Given the description of an element on the screen output the (x, y) to click on. 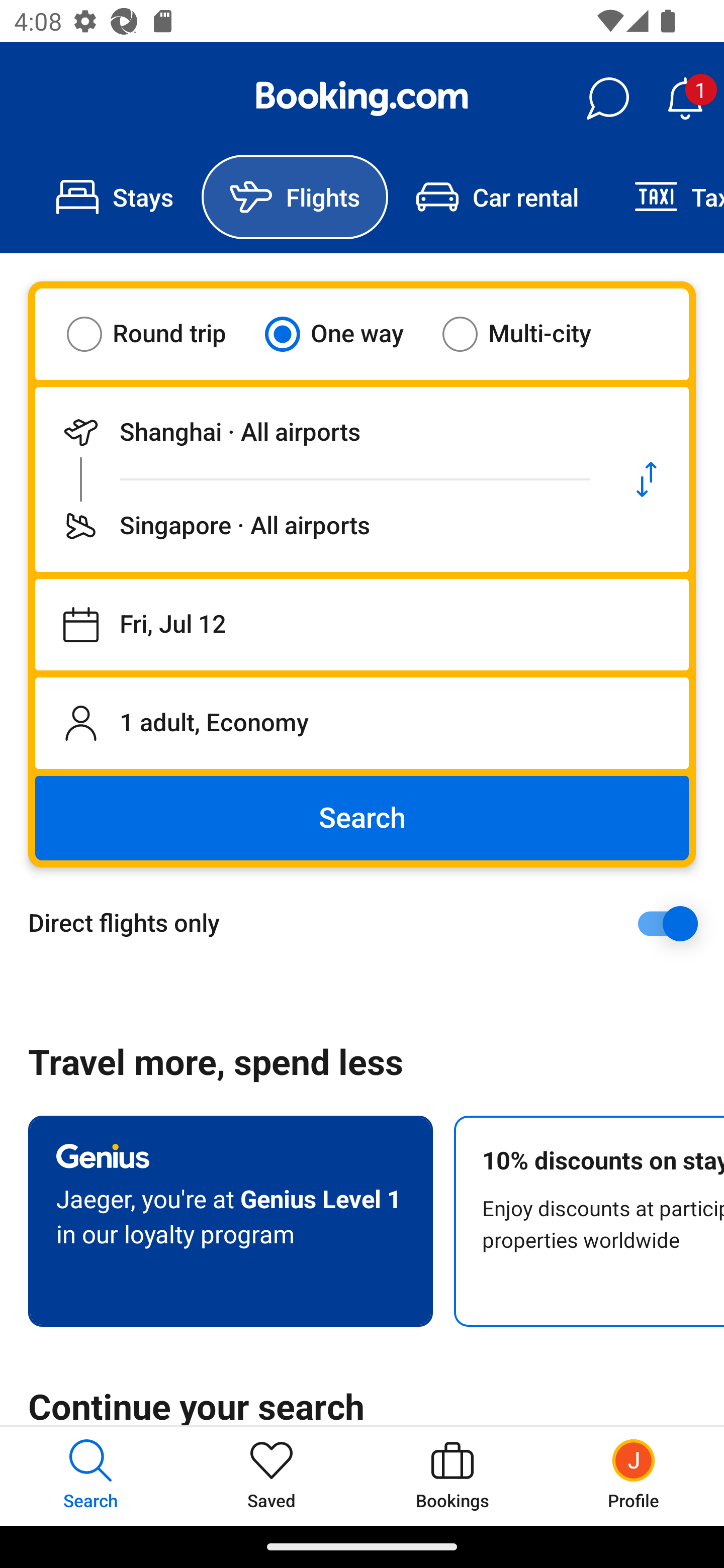
Messages (607, 98)
Notifications (685, 98)
Stays (114, 197)
Flights (294, 197)
Car rental (497, 197)
Taxi (665, 197)
Round trip (158, 333)
Multi-city (528, 333)
Departing from Shanghai · All airports (319, 432)
Swap departure location and destination (646, 479)
Flying to Singapore · All airports (319, 525)
Departing on Fri, Jul 12 (361, 624)
1 adult, Economy (361, 722)
Search (361, 818)
Direct flights only (369, 923)
Saved (271, 1475)
Bookings (452, 1475)
Profile (633, 1475)
